Given the description of an element on the screen output the (x, y) to click on. 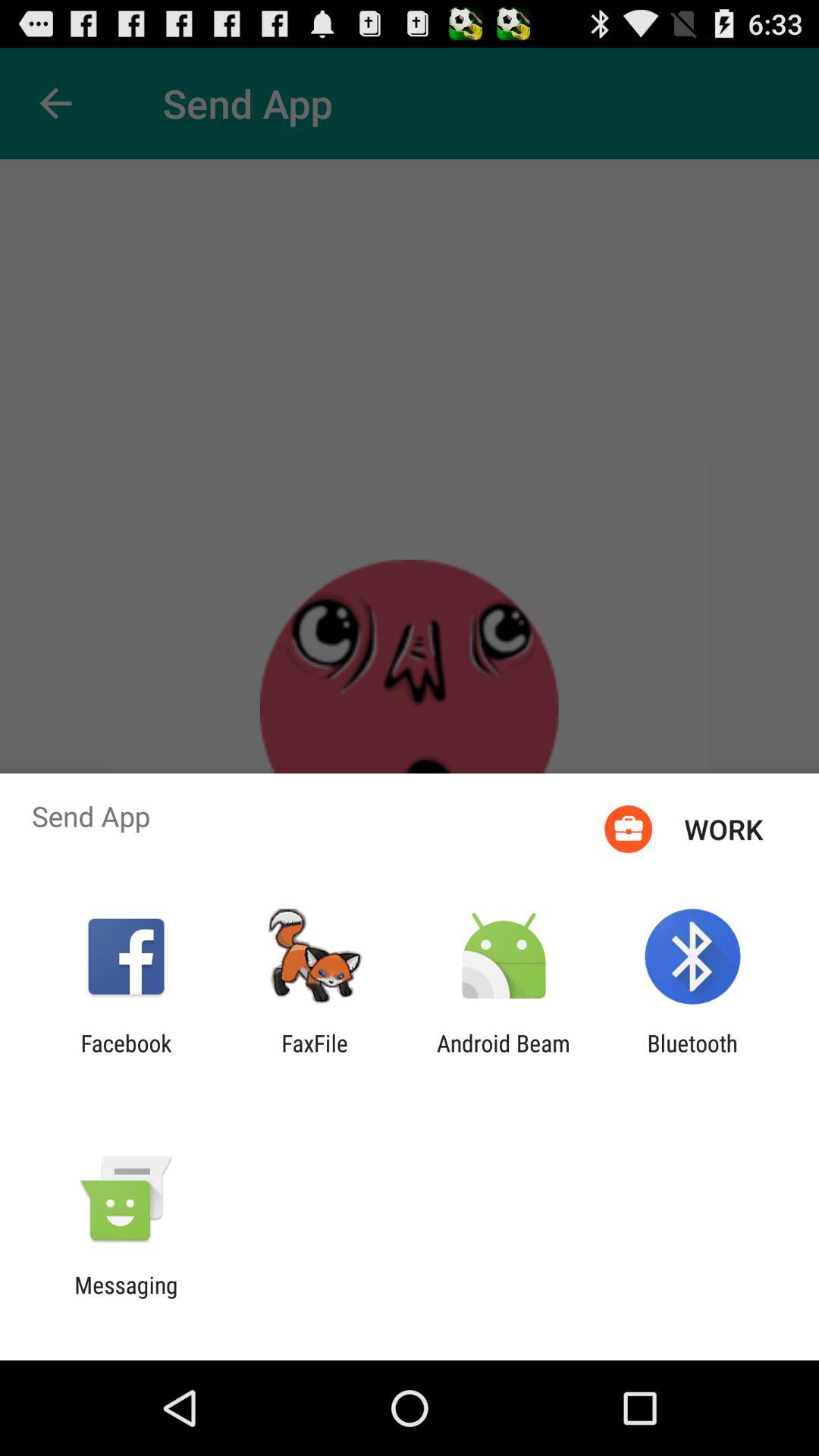
launch the facebook (125, 1056)
